Given the description of an element on the screen output the (x, y) to click on. 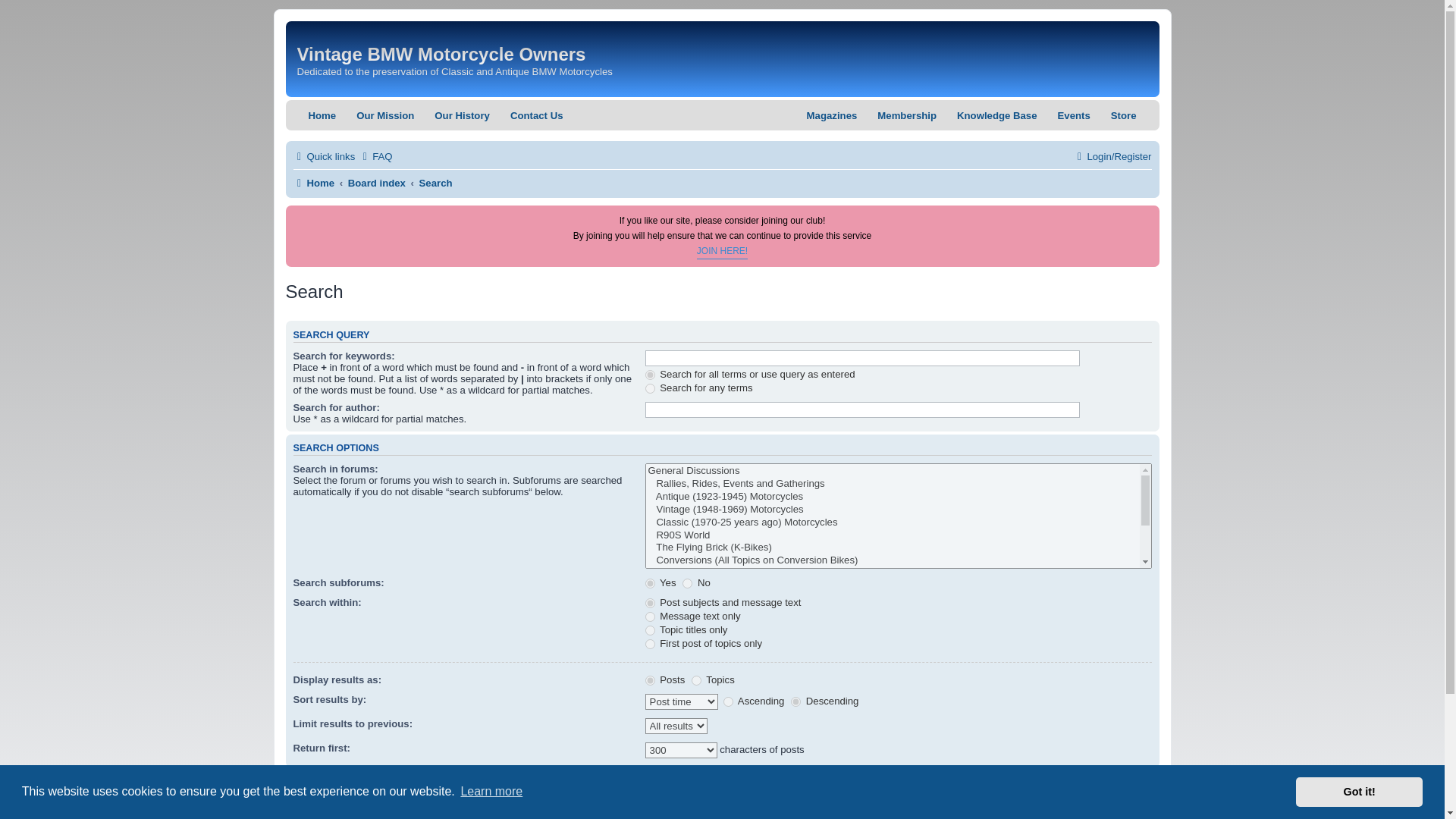
Our Mission (384, 115)
topics (696, 680)
d (795, 701)
Reset (700, 787)
Home (313, 182)
1 (650, 583)
Store (1123, 115)
Search (435, 182)
0 (687, 583)
any (650, 388)
a (728, 701)
Home (321, 115)
Events (1074, 115)
Board index (376, 182)
